Given the description of an element on the screen output the (x, y) to click on. 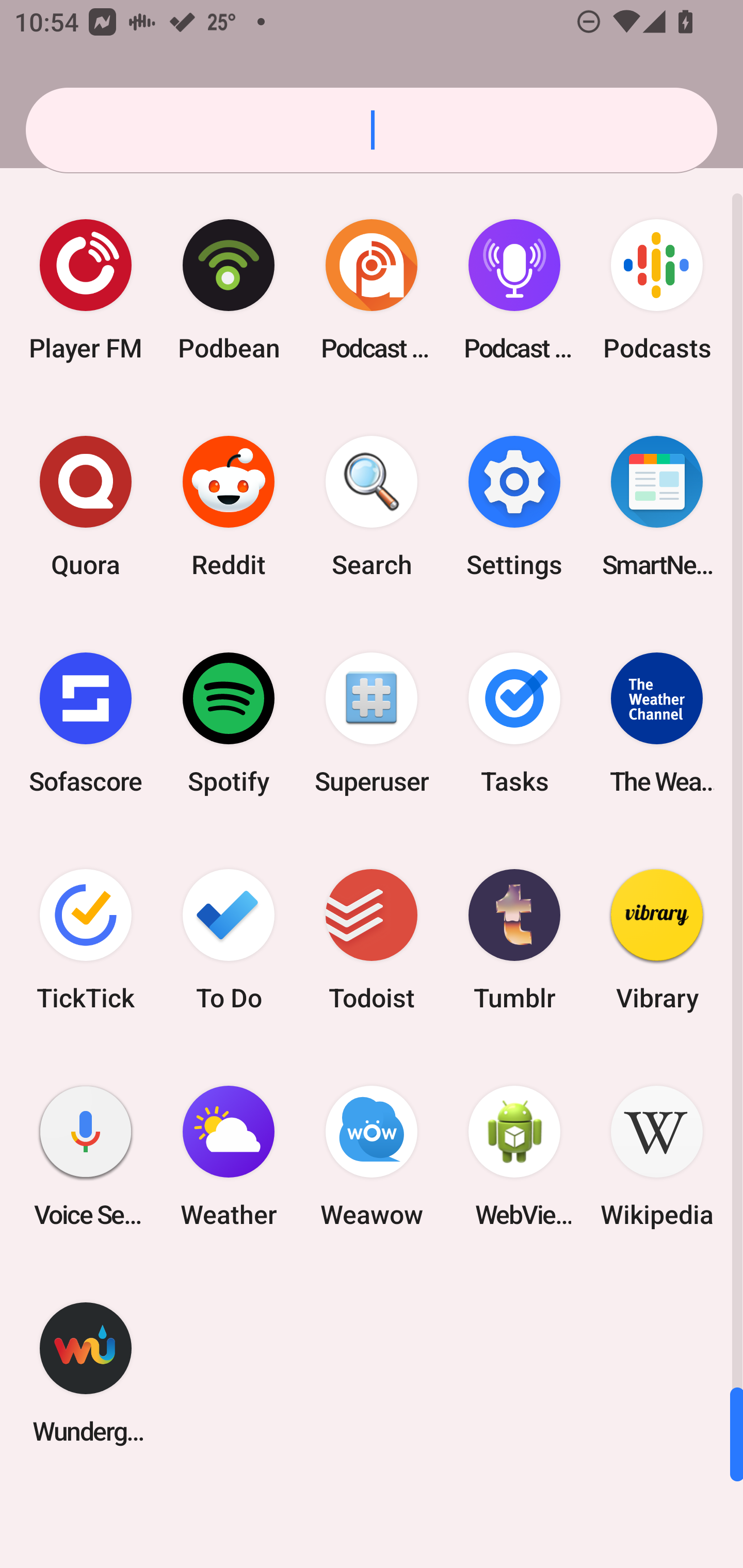
  Search apps (371, 130)
Player FM (85, 289)
Podbean (228, 289)
Podcast Addict (371, 289)
Podcast Player (514, 289)
Podcasts (656, 289)
Quora (85, 506)
Reddit (228, 506)
Search (371, 506)
Settings (514, 506)
SmartNews (656, 506)
Sofascore (85, 722)
Spotify (228, 722)
Superuser (371, 722)
Tasks (514, 722)
The Weather Channel (656, 722)
TickTick (85, 939)
To Do (228, 939)
Todoist (371, 939)
Tumblr (514, 939)
Vibrary (656, 939)
Voice Search (85, 1156)
Weather (228, 1156)
Weawow (371, 1156)
WebView Browser Tester (514, 1156)
Wikipedia (656, 1156)
Wunderground (85, 1373)
